Given the description of an element on the screen output the (x, y) to click on. 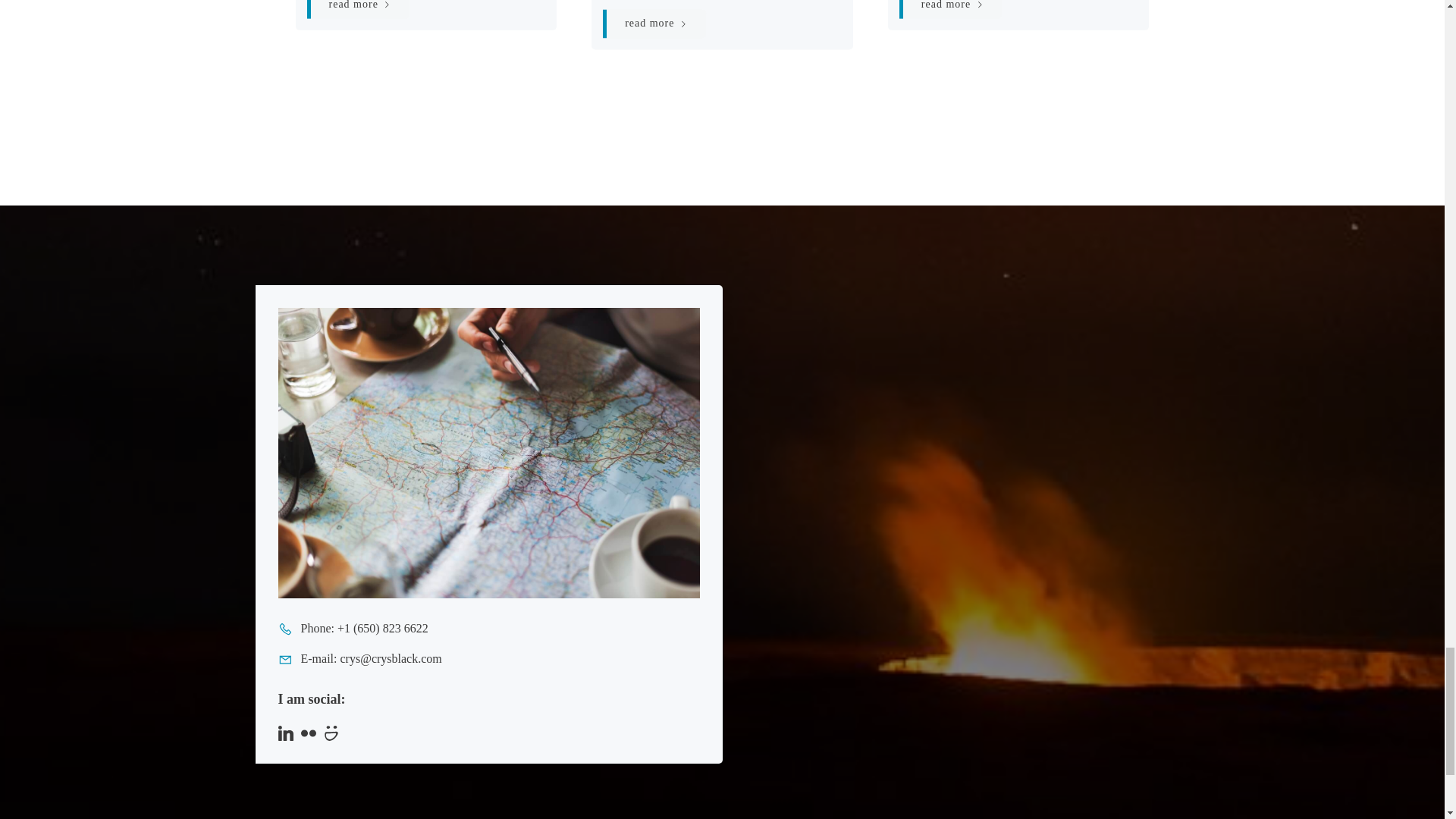
read more (653, 23)
read more (357, 9)
read more (950, 9)
